Given the description of an element on the screen output the (x, y) to click on. 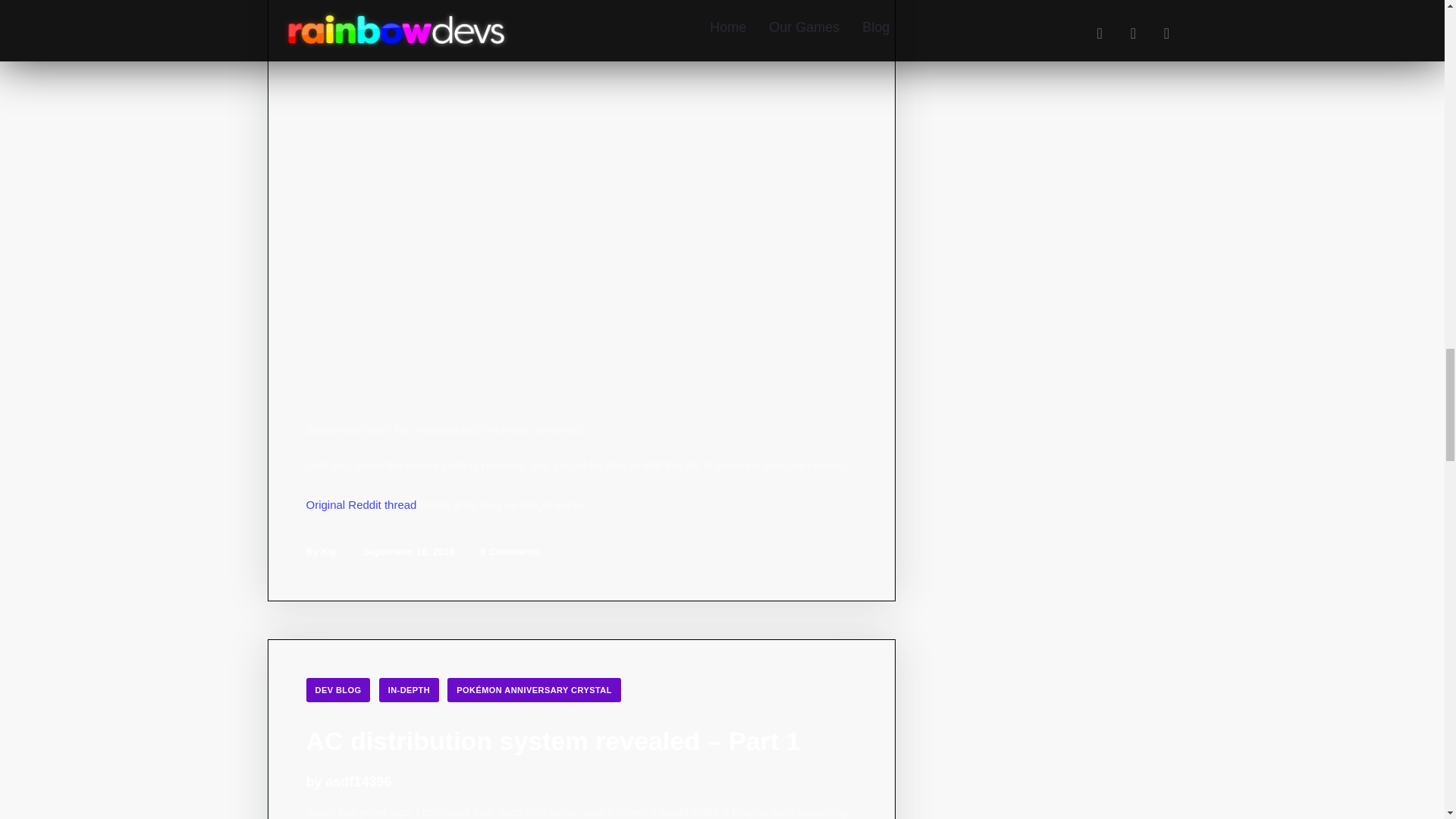
Original Reddit thread (360, 504)
IN-DEPTH (408, 689)
0 Comments (510, 551)
By Kip (321, 551)
September 16, 2018 (408, 551)
DEV BLOG (338, 689)
